Given the description of an element on the screen output the (x, y) to click on. 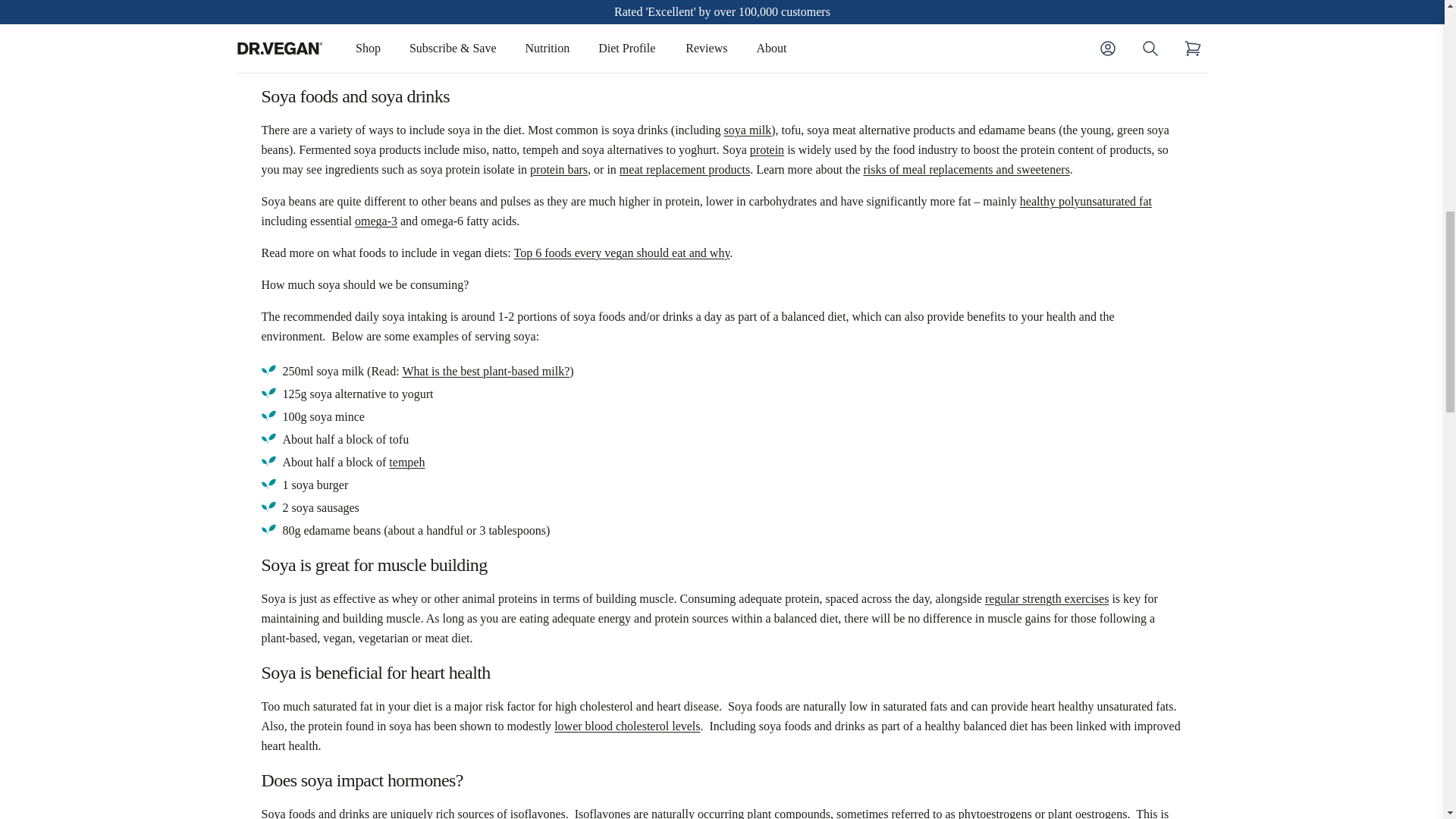
healthy fats explained (1085, 201)
menopause strength training (1046, 598)
plant-based protein (717, 8)
soya milk best plant-based milk (747, 129)
Top 6 foods every vegan should eat and why (621, 252)
protein (766, 149)
meal replacements (684, 169)
protein bars (558, 169)
